Given the description of an element on the screen output the (x, y) to click on. 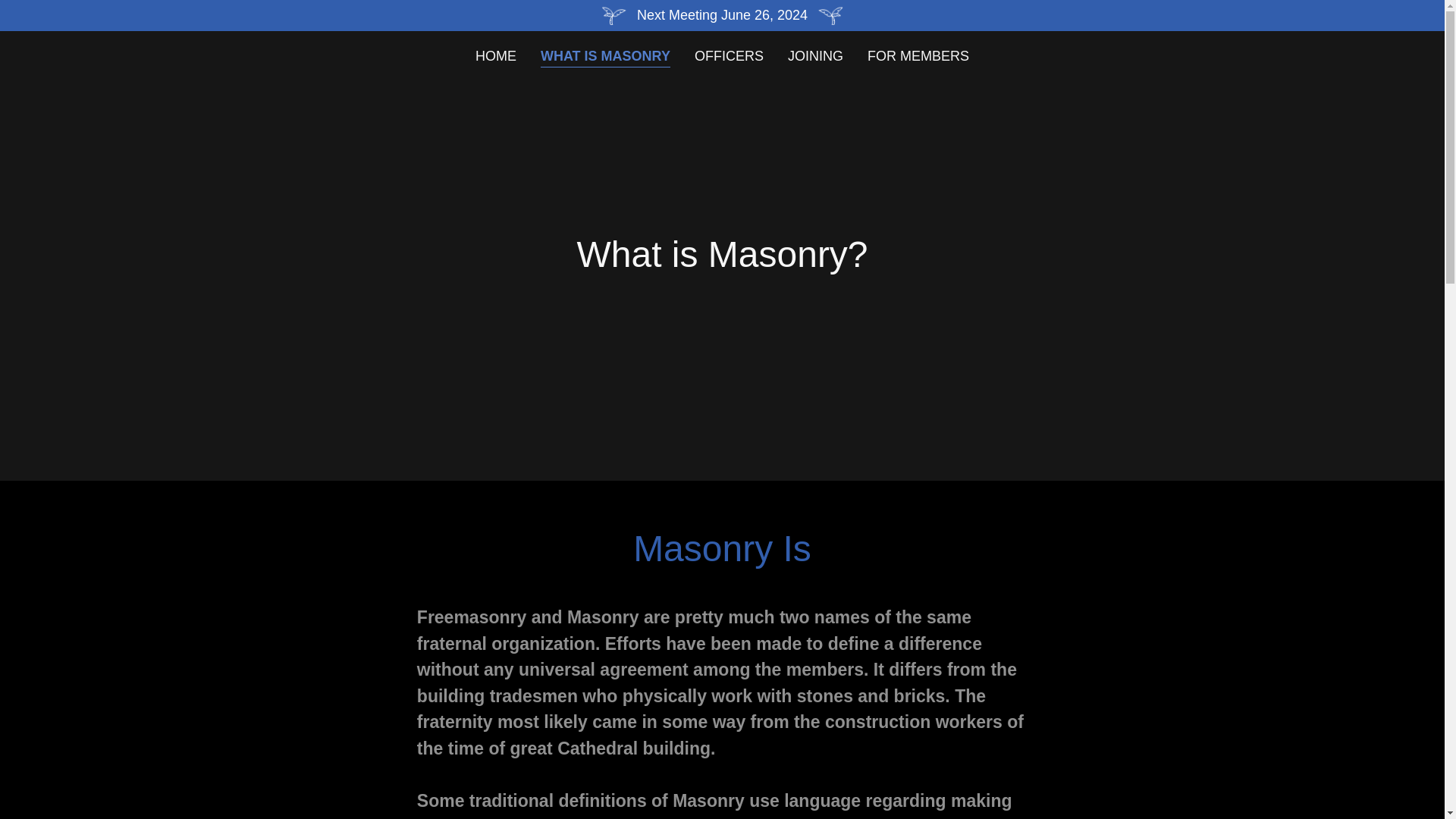
WHAT IS MASONRY (604, 56)
OFFICERS (729, 55)
JOINING (815, 55)
HOME (495, 55)
FOR MEMBERS (918, 55)
